Given the description of an element on the screen output the (x, y) to click on. 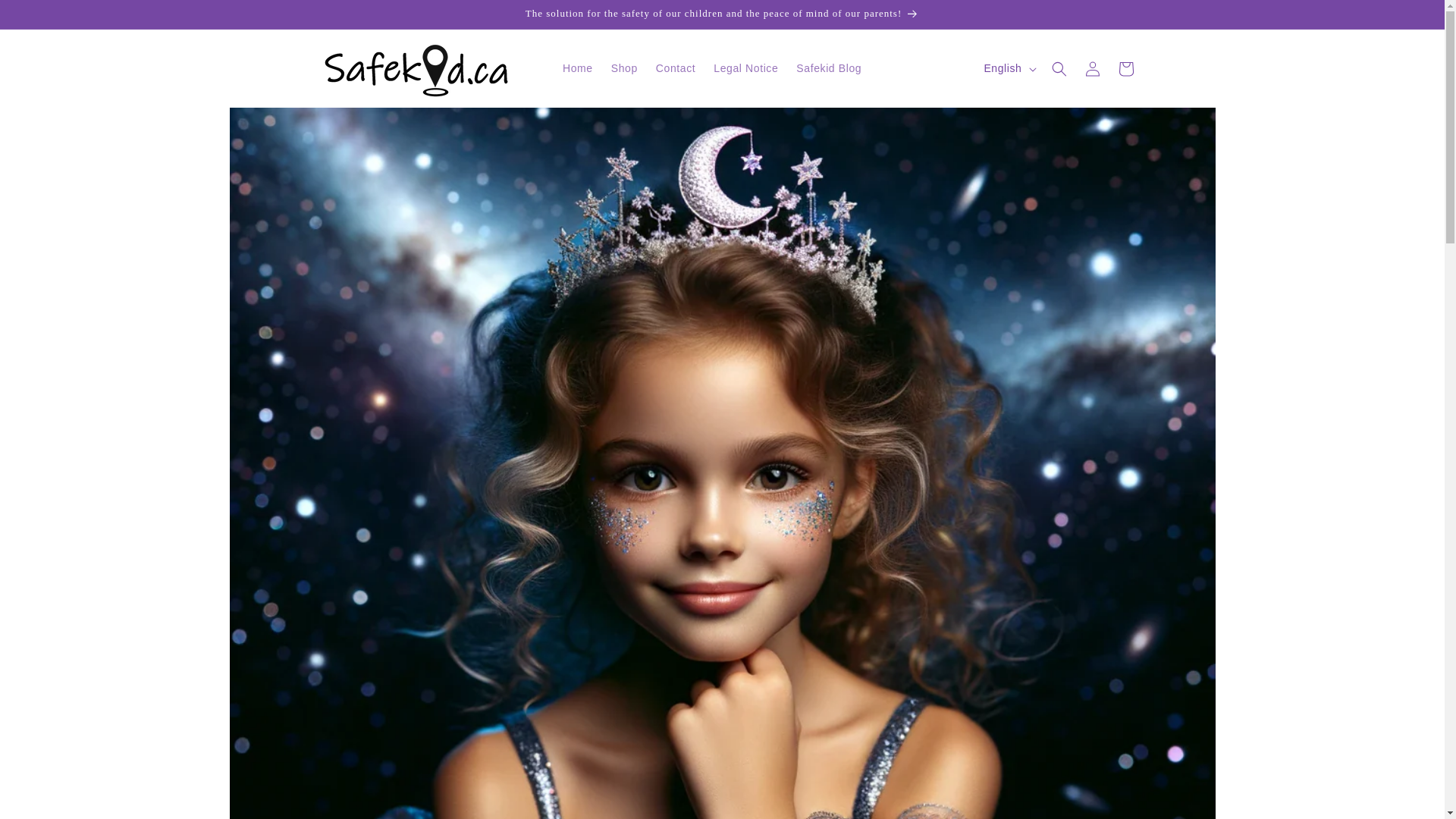
Contact (675, 68)
Log in (1091, 68)
Home (577, 68)
Legal Notice (745, 68)
Skip to content (45, 17)
Shop (624, 68)
English (1008, 68)
Cart (1124, 68)
Safekid Blog (828, 68)
